Given the description of an element on the screen output the (x, y) to click on. 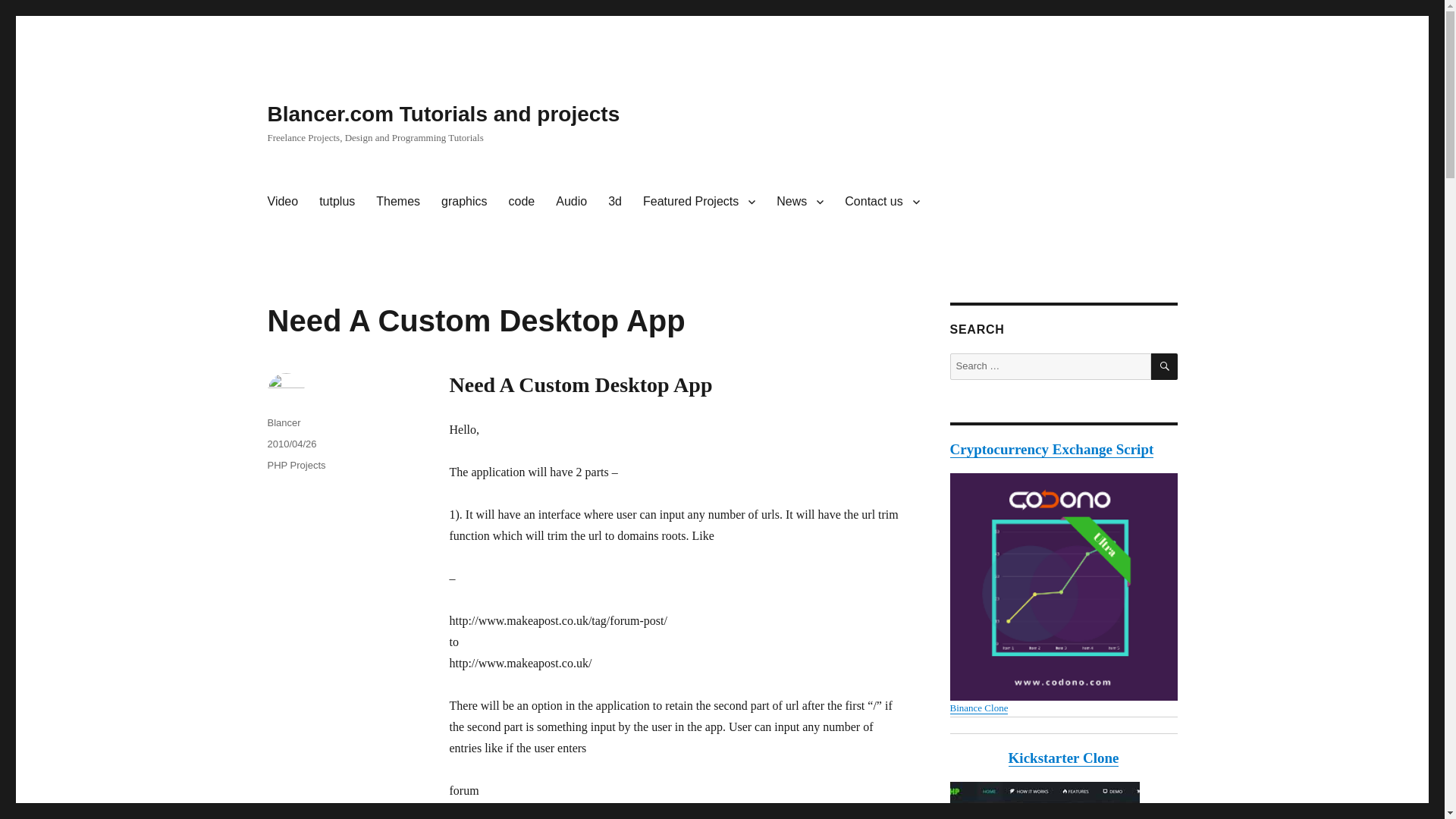
Contact us (882, 201)
Kickstarter Clone (1064, 757)
Blancer (282, 422)
Blancer.com Tutorials and projects (443, 114)
Audio (570, 201)
Cryptocurrency Exchange Script (1062, 593)
code (521, 201)
Themes (397, 201)
Cryptocurrency Exchange Script (1051, 449)
Kickstarter Clone (1064, 757)
SEARCH (1164, 366)
PHP Projects (295, 464)
Binance Clone (978, 707)
Cryptocurrency Exchange Script (1051, 449)
3d (613, 201)
